Given the description of an element on the screen output the (x, y) to click on. 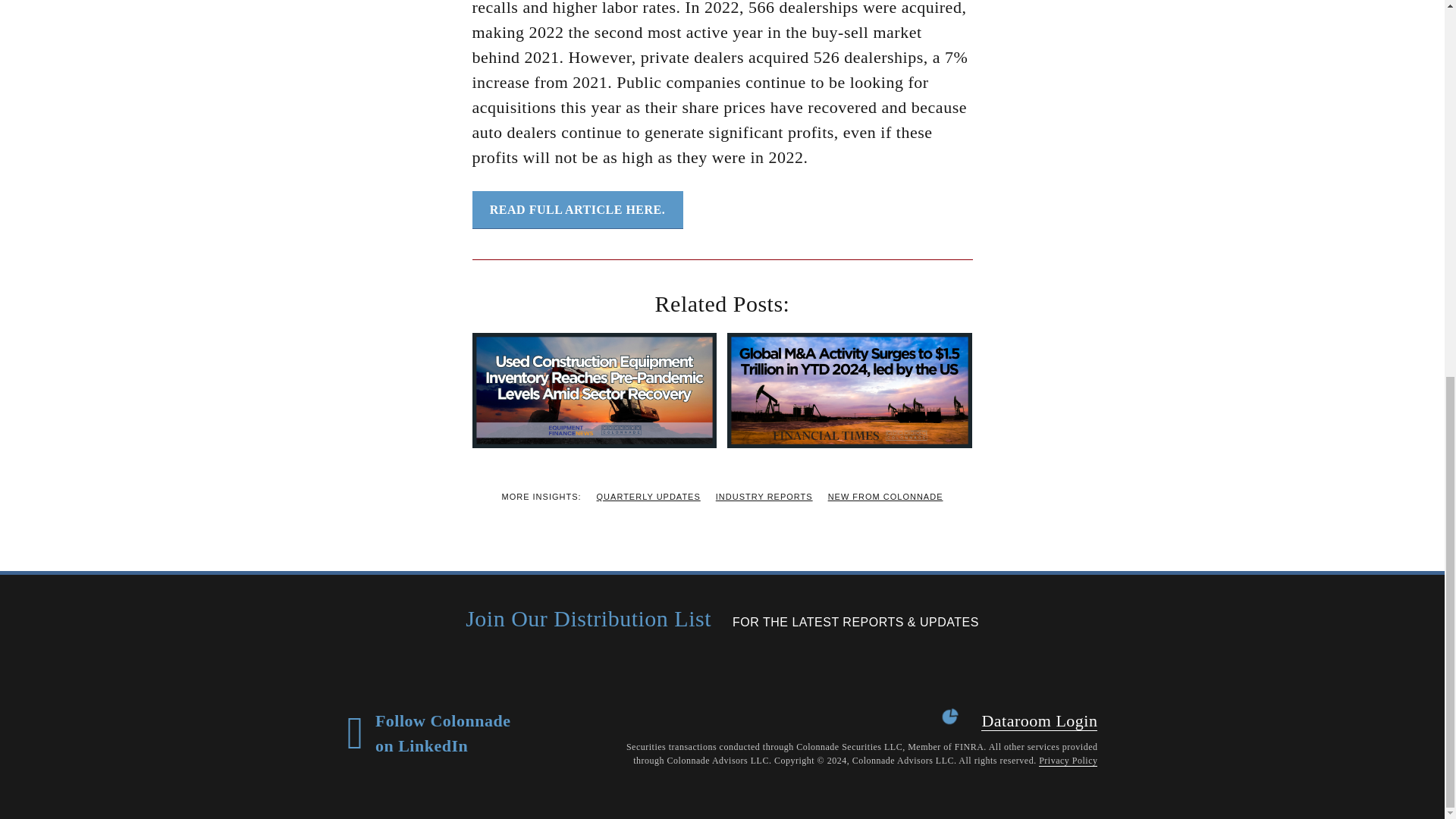
INDUSTRY REPORTS (763, 496)
READ FULL ARTICLE HERE. (576, 209)
QUARTERLY UPDATES (648, 496)
MORE INSIGHTS: (541, 496)
